Given the description of an element on the screen output the (x, y) to click on. 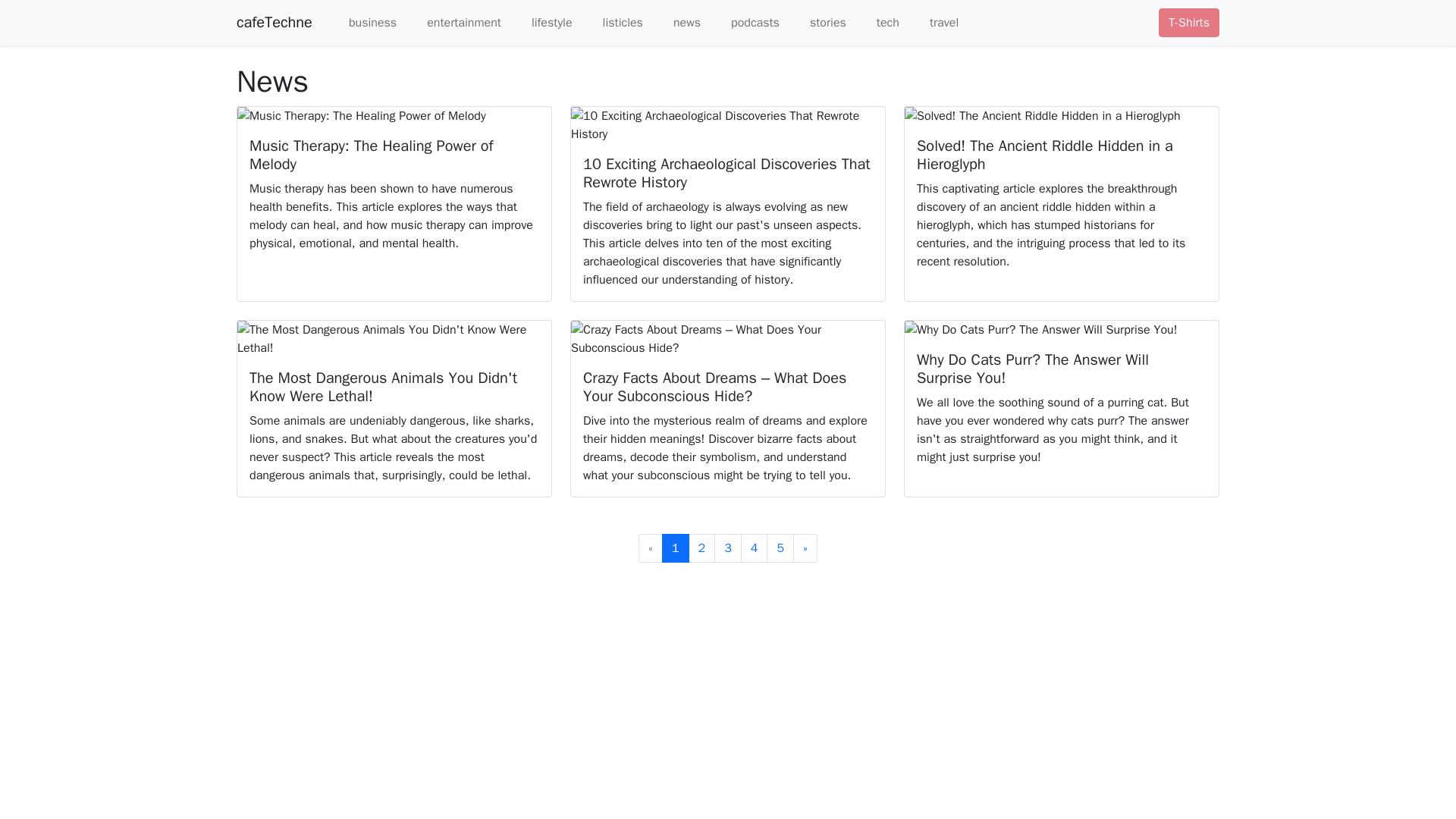
listicles (613, 22)
podcasts (746, 22)
news (677, 22)
tech (878, 22)
cafeTechne (274, 22)
business (363, 22)
stories (818, 22)
entertainment (454, 22)
lifestyle (542, 22)
T-Shirts (1189, 22)
